Given the description of an element on the screen output the (x, y) to click on. 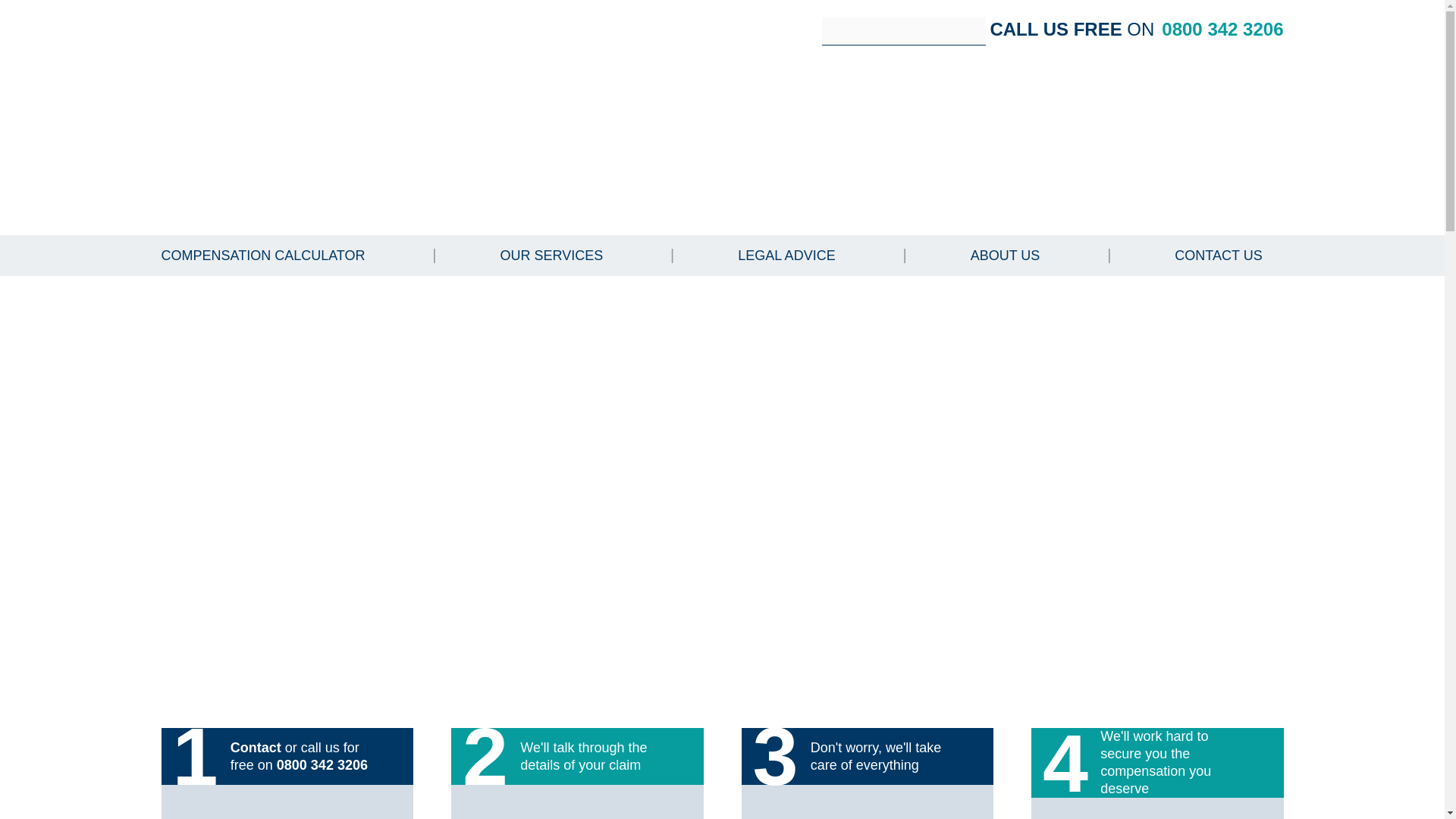
0800 342 3206 (1221, 28)
COMPENSATION CALCULATOR (262, 255)
Jefferies Solicitors (266, 115)
OUR SERVICES (552, 255)
